Given the description of an element on the screen output the (x, y) to click on. 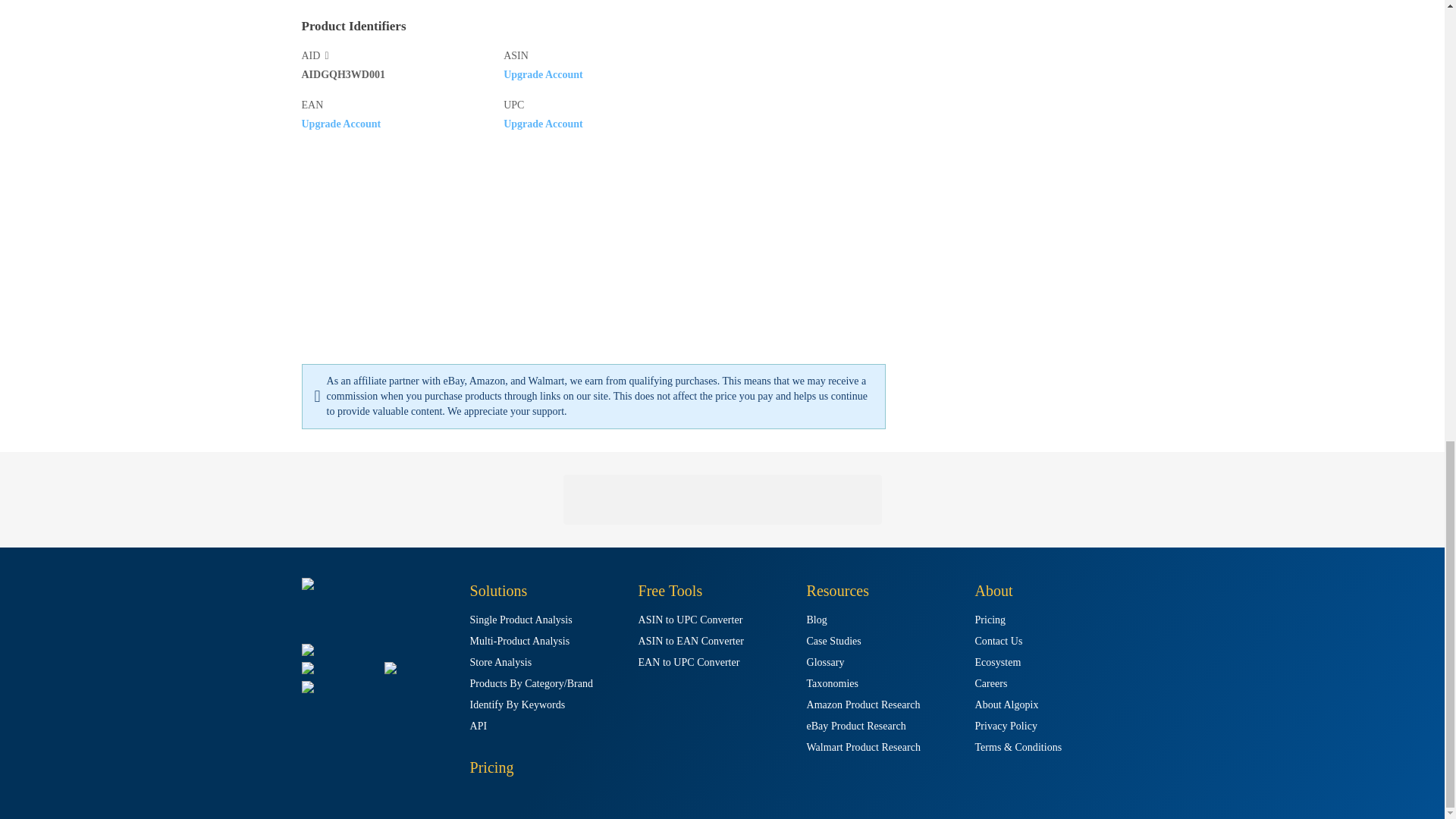
ASIN to UPC Converter (690, 619)
Pricing (491, 767)
Single Product Analysis (521, 619)
Store Analysis (501, 662)
Upgrade Account (341, 123)
Multi-Product Analysis (520, 641)
API (478, 726)
Identify By Keywords (518, 704)
Upgrade Account (543, 73)
Upgrade Account (543, 123)
